Given the description of an element on the screen output the (x, y) to click on. 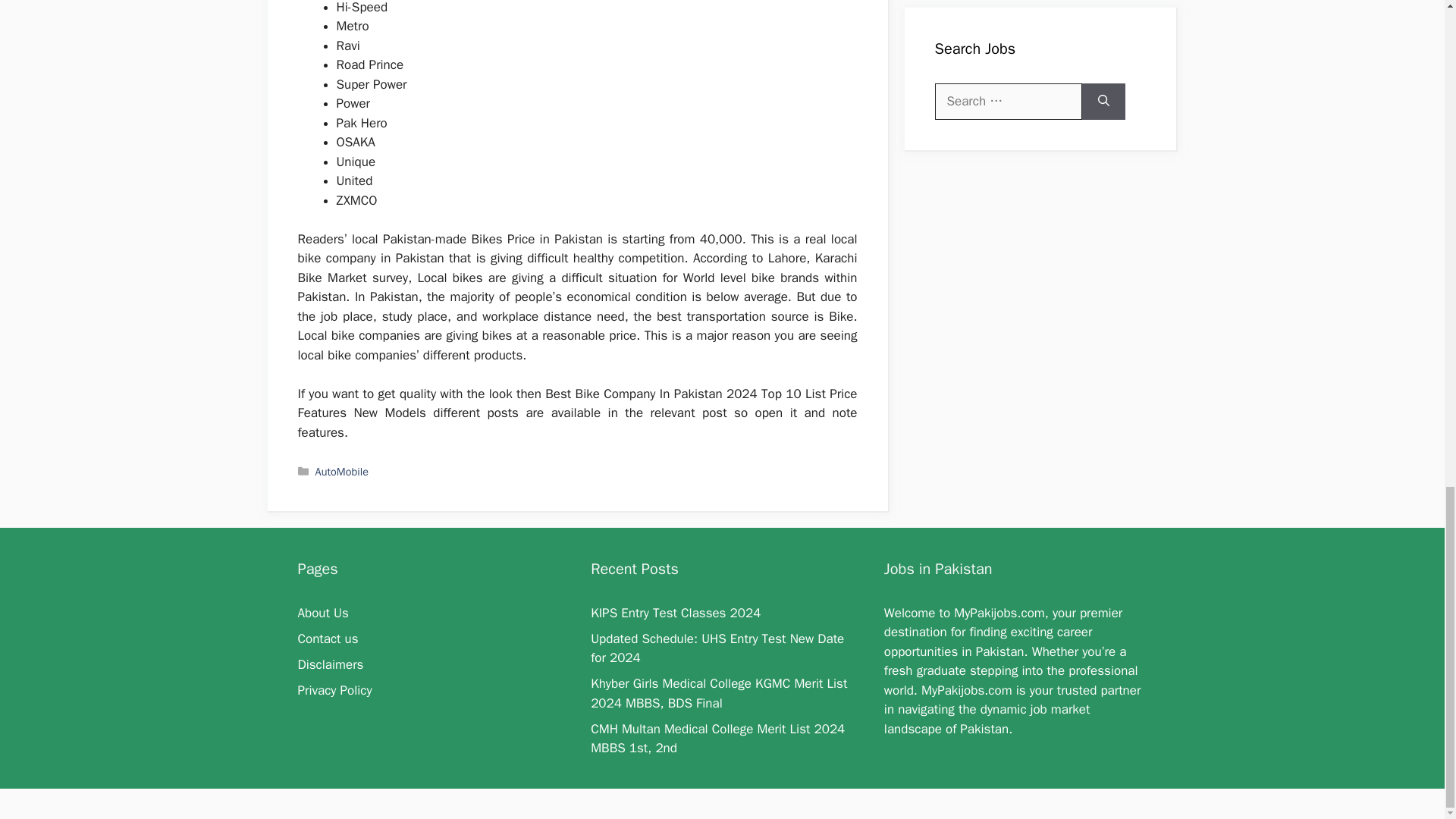
Disclaimers (329, 664)
Contact us (327, 638)
AutoMobile (341, 471)
Updated Schedule: UHS Entry Test New Date for 2024 (717, 648)
KIPS Entry Test Classes 2024 (675, 612)
Privacy Policy (334, 690)
CMH Multan Medical College Merit List 2024 MBBS 1st, 2nd (717, 738)
About Us (322, 612)
